Given the description of an element on the screen output the (x, y) to click on. 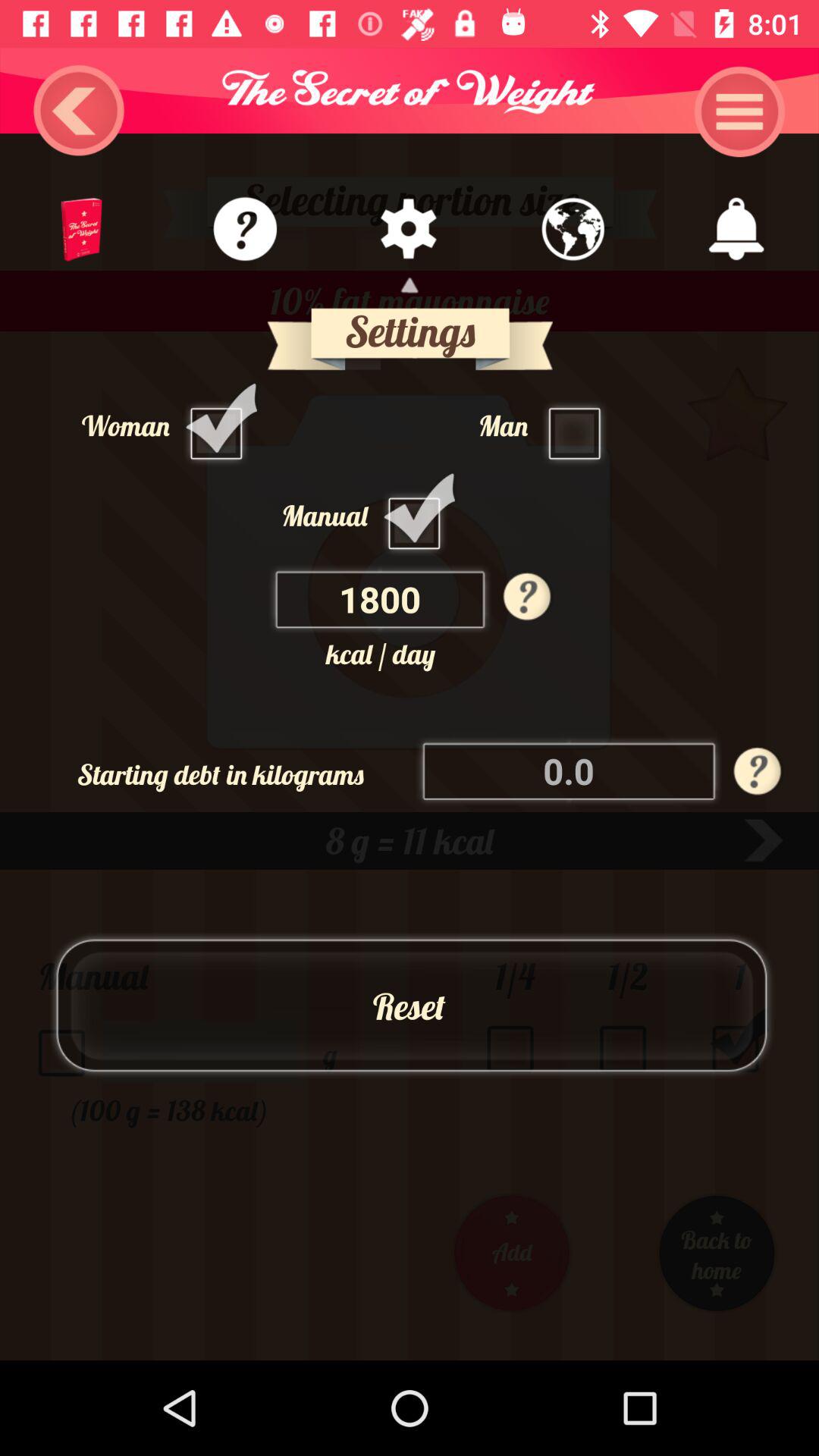
show the hilograms (569, 770)
